Given the description of an element on the screen output the (x, y) to click on. 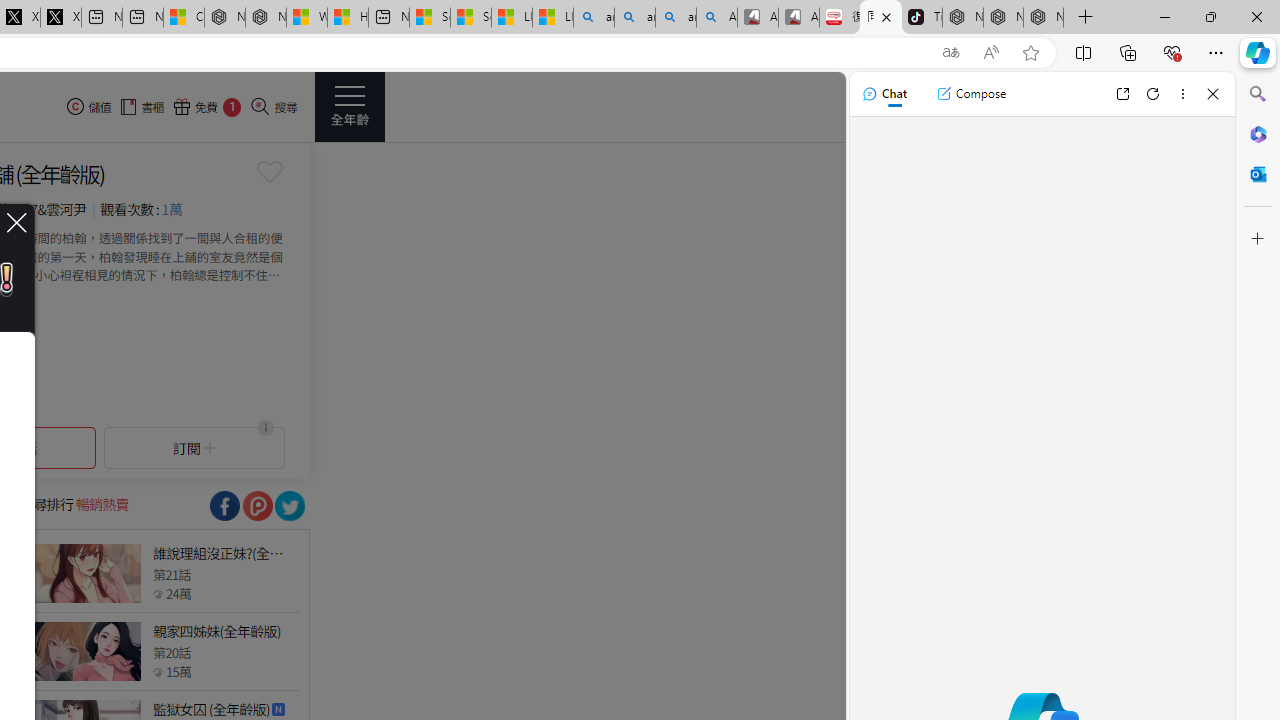
Close tab (886, 16)
All Cubot phones (799, 17)
Class: epicon_starpoint (158, 671)
TikTok (922, 17)
Nordace - Summer Adventures 2024 (265, 17)
Minimize (1164, 16)
Show translate options (950, 53)
Class: socialShare (289, 506)
